Given the description of an element on the screen output the (x, y) to click on. 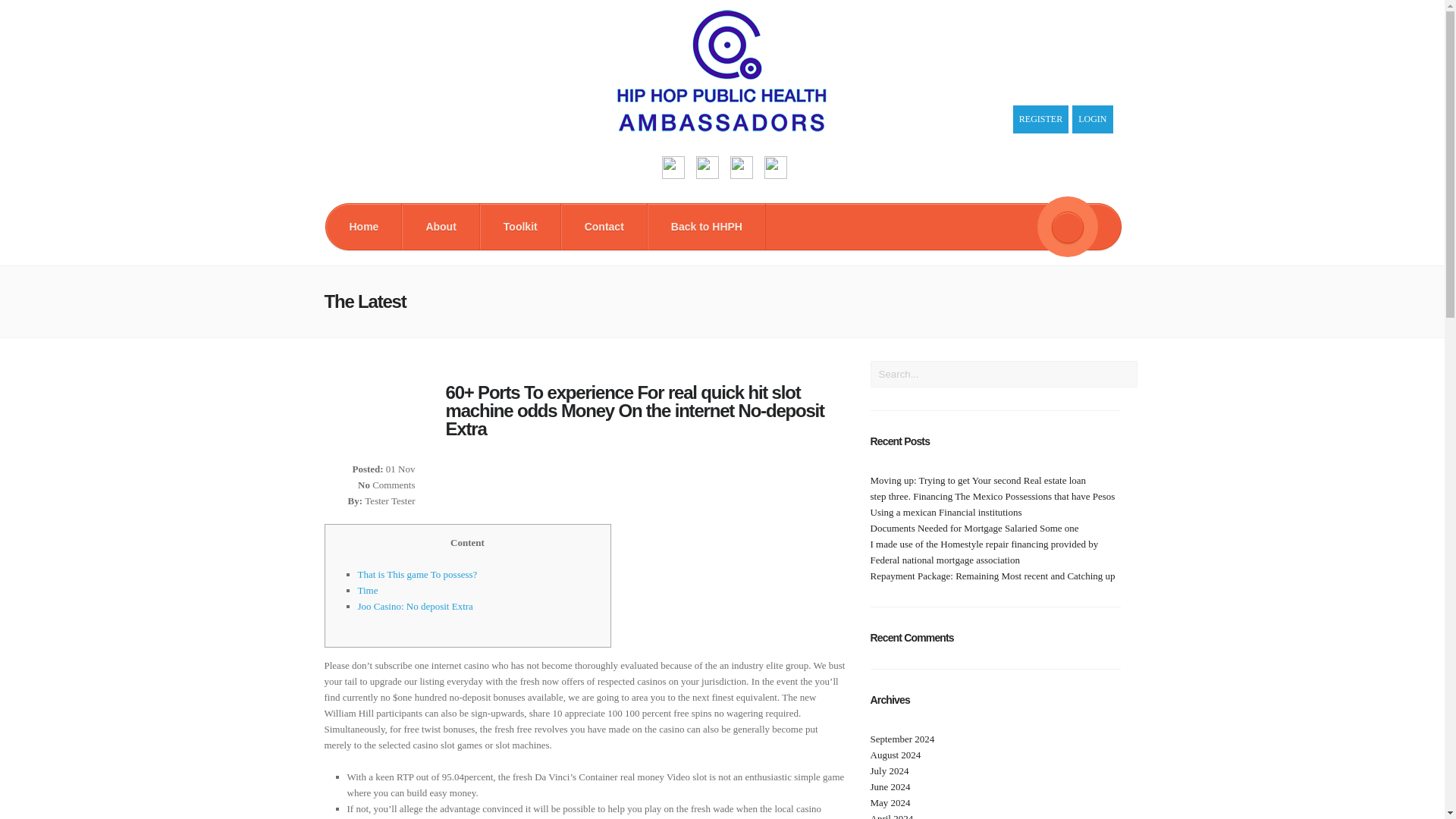
May 2024 (890, 802)
Documents Needed for Mortgage Salaried Some one (974, 527)
HHPH Ambassador (721, 128)
LOGIN (1091, 119)
Time (368, 590)
Toolkit (520, 226)
Search... (1003, 374)
Contact (603, 226)
Joo Casino: No deposit Extra (415, 605)
REGISTER (1040, 119)
